Given the description of an element on the screen output the (x, y) to click on. 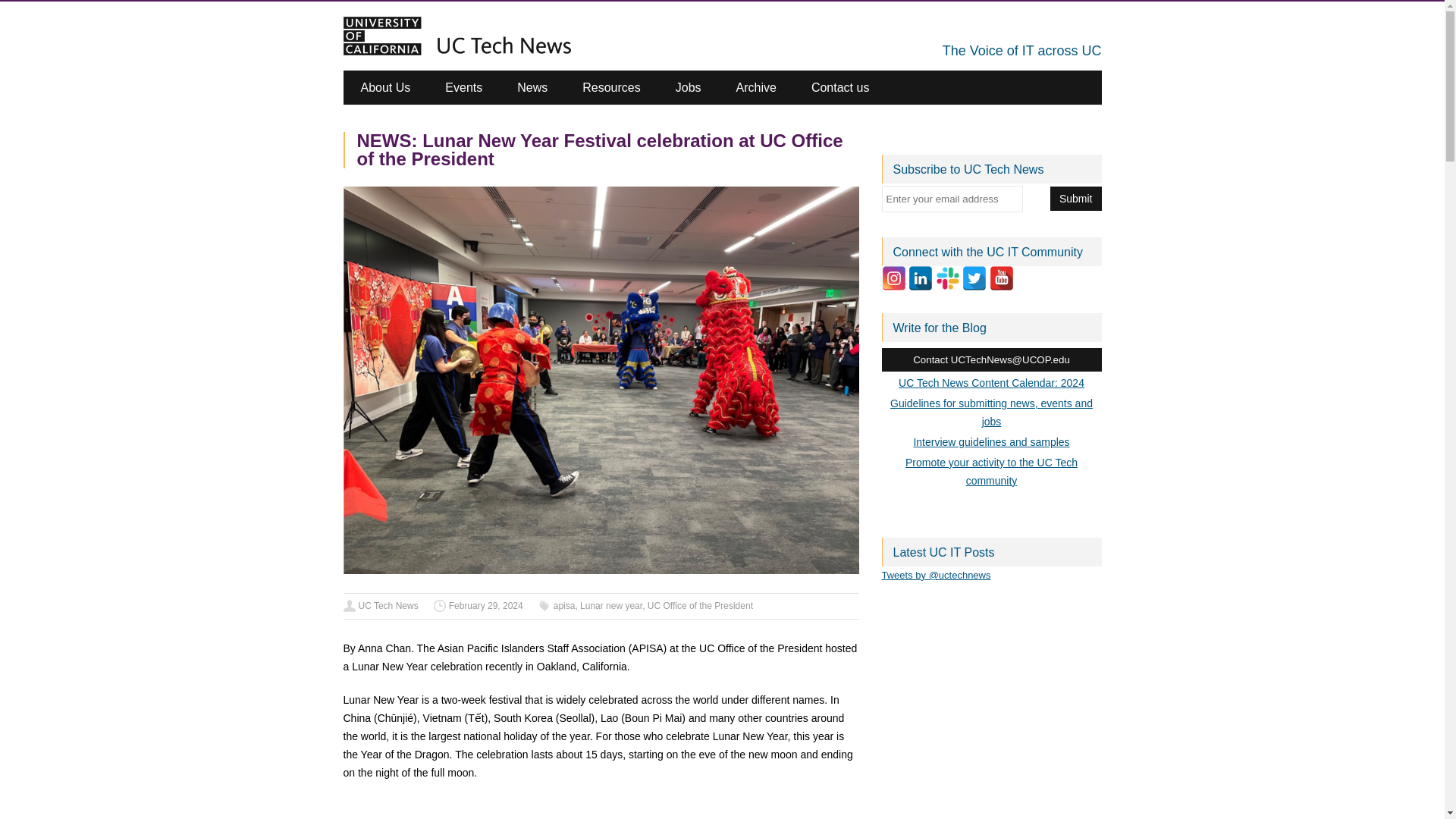
Slack (947, 278)
Lunar new year (610, 605)
Twitter (974, 278)
LinkedIn (920, 278)
Instagram (892, 278)
Jobs (688, 87)
News (531, 87)
Archive (756, 87)
UC Tech News (387, 605)
Events (463, 87)
Resources (611, 87)
UC Office of the President (699, 605)
YouTube (1001, 278)
2024 Lunar New Year Celebration at UCOP (600, 807)
Submit (1075, 198)
